Given the description of an element on the screen output the (x, y) to click on. 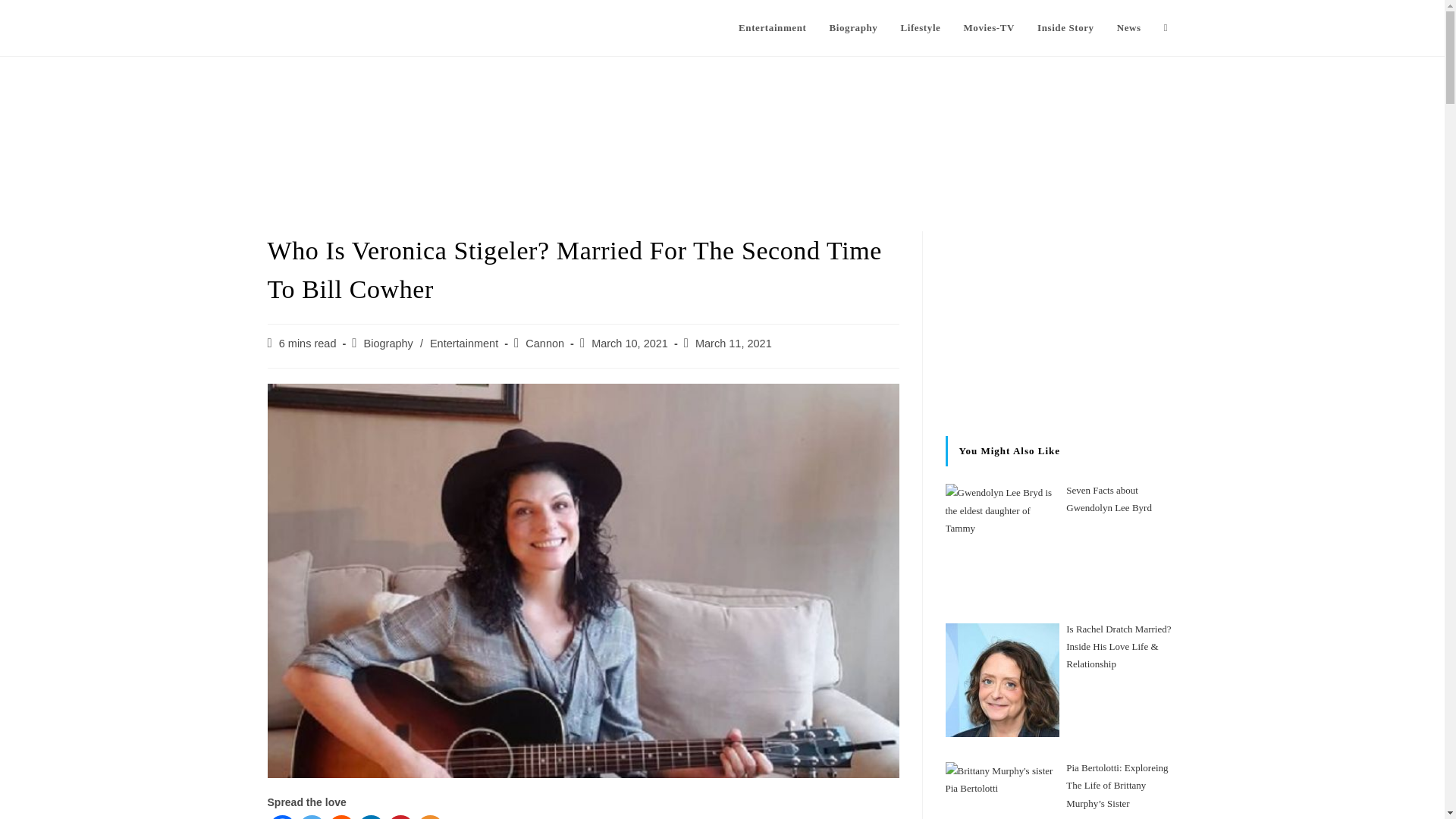
CelebSuburb (317, 26)
Posts by Cannon (544, 343)
Lifestyle (920, 28)
Cannon (544, 343)
Entertainment (463, 343)
Entertainment (771, 28)
More (430, 816)
Linkedin (371, 816)
Biography (388, 343)
Facebook (281, 816)
Movies-TV (989, 28)
Reddit (340, 816)
Biography (852, 28)
Twitter (311, 816)
Inside Story (1065, 28)
